Given the description of an element on the screen output the (x, y) to click on. 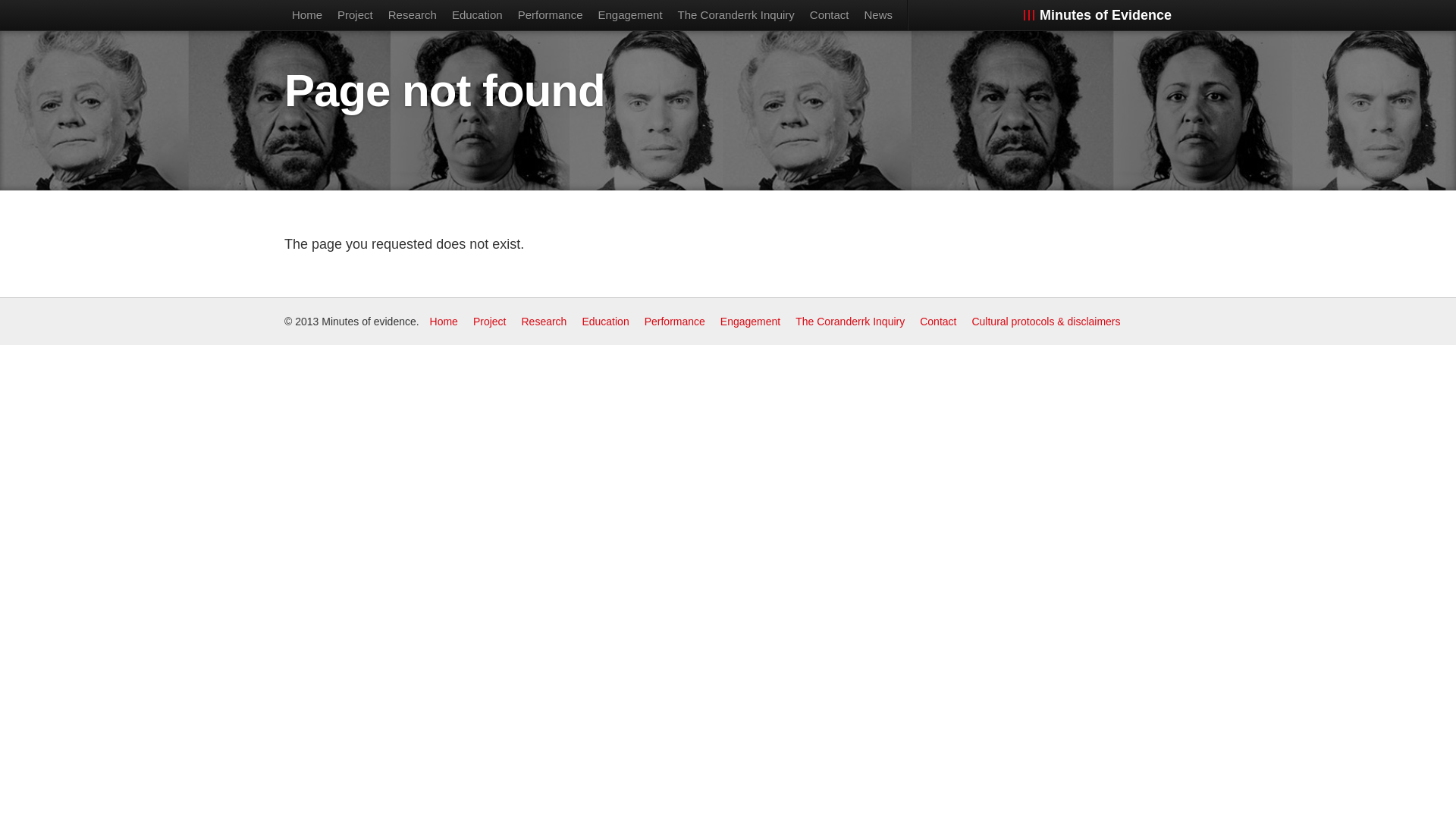
Performance Element type: text (550, 15)
Project Element type: text (354, 15)
Project Element type: text (489, 321)
Minutes of Evidence Element type: text (1095, 15)
The Coranderrk Inquiry Element type: text (849, 321)
Research Element type: text (543, 321)
The Coranderrk Inquiry Element type: text (736, 15)
Home Element type: text (443, 321)
Engagement Element type: text (750, 321)
News Element type: text (878, 15)
Research Element type: text (412, 15)
Contact Element type: text (937, 321)
Engagement Element type: text (629, 15)
Education Element type: text (477, 15)
Education Element type: text (604, 321)
Performance Element type: text (674, 321)
Home Element type: text (306, 15)
Cultural protocols & disclaimers Element type: text (1045, 321)
Contact Element type: text (829, 15)
